Given the description of an element on the screen output the (x, y) to click on. 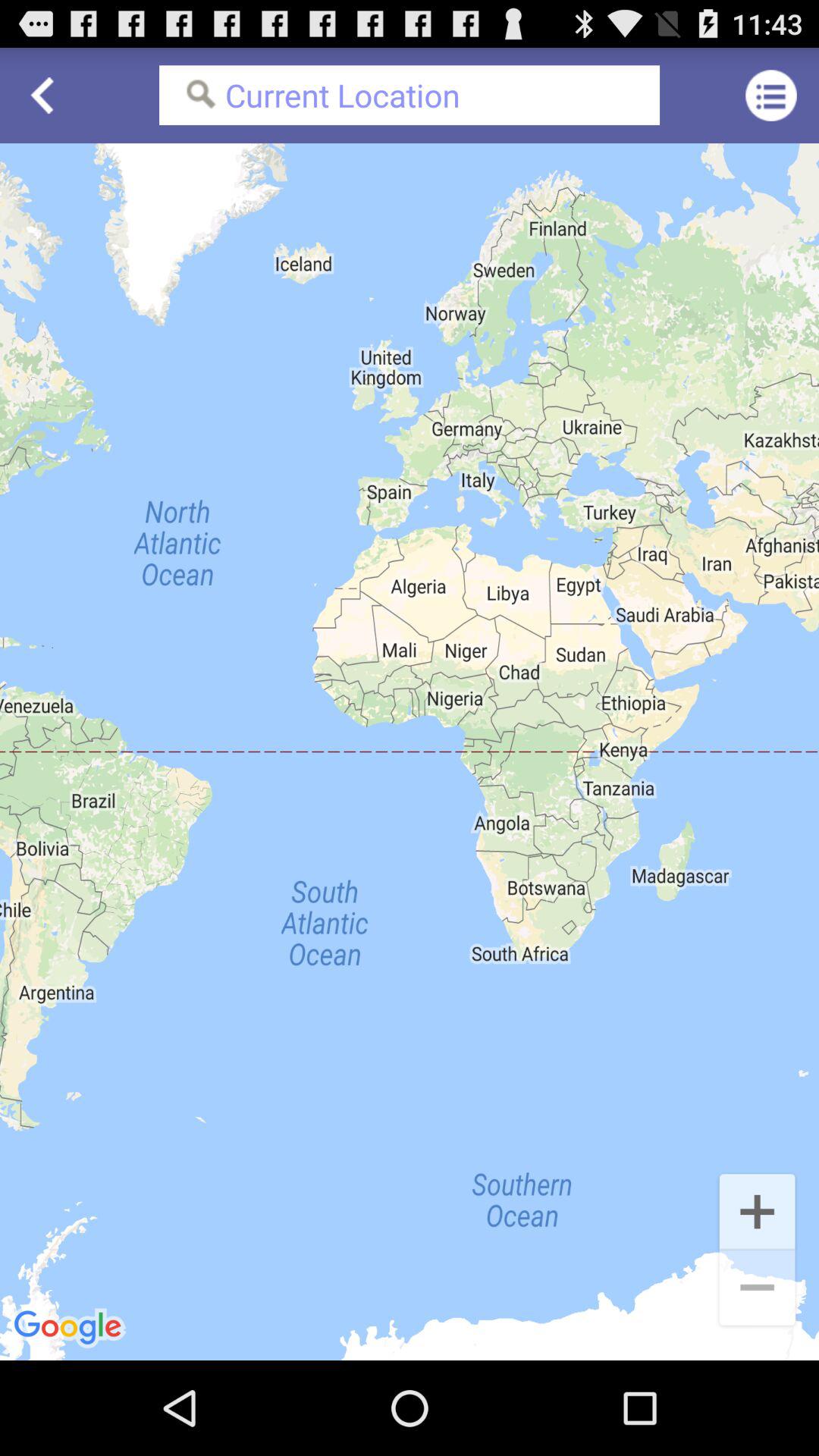
select the item next to the current location icon (771, 95)
